Given the description of an element on the screen output the (x, y) to click on. 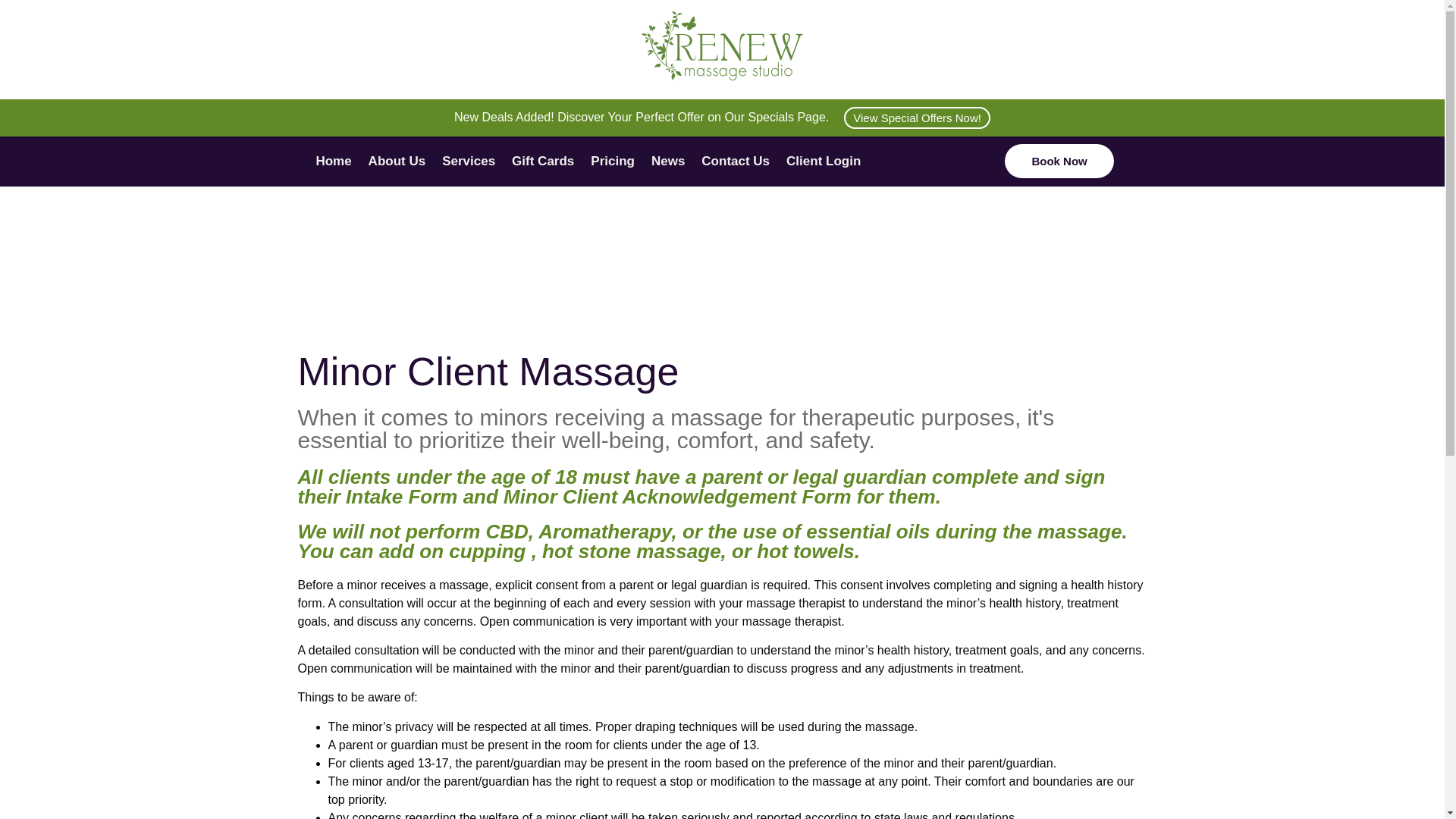
Services (468, 161)
About Us (396, 161)
Pricing (612, 161)
Home (333, 161)
View Special Offers Now! (917, 117)
Gift Cards (542, 161)
